Given the description of an element on the screen output the (x, y) to click on. 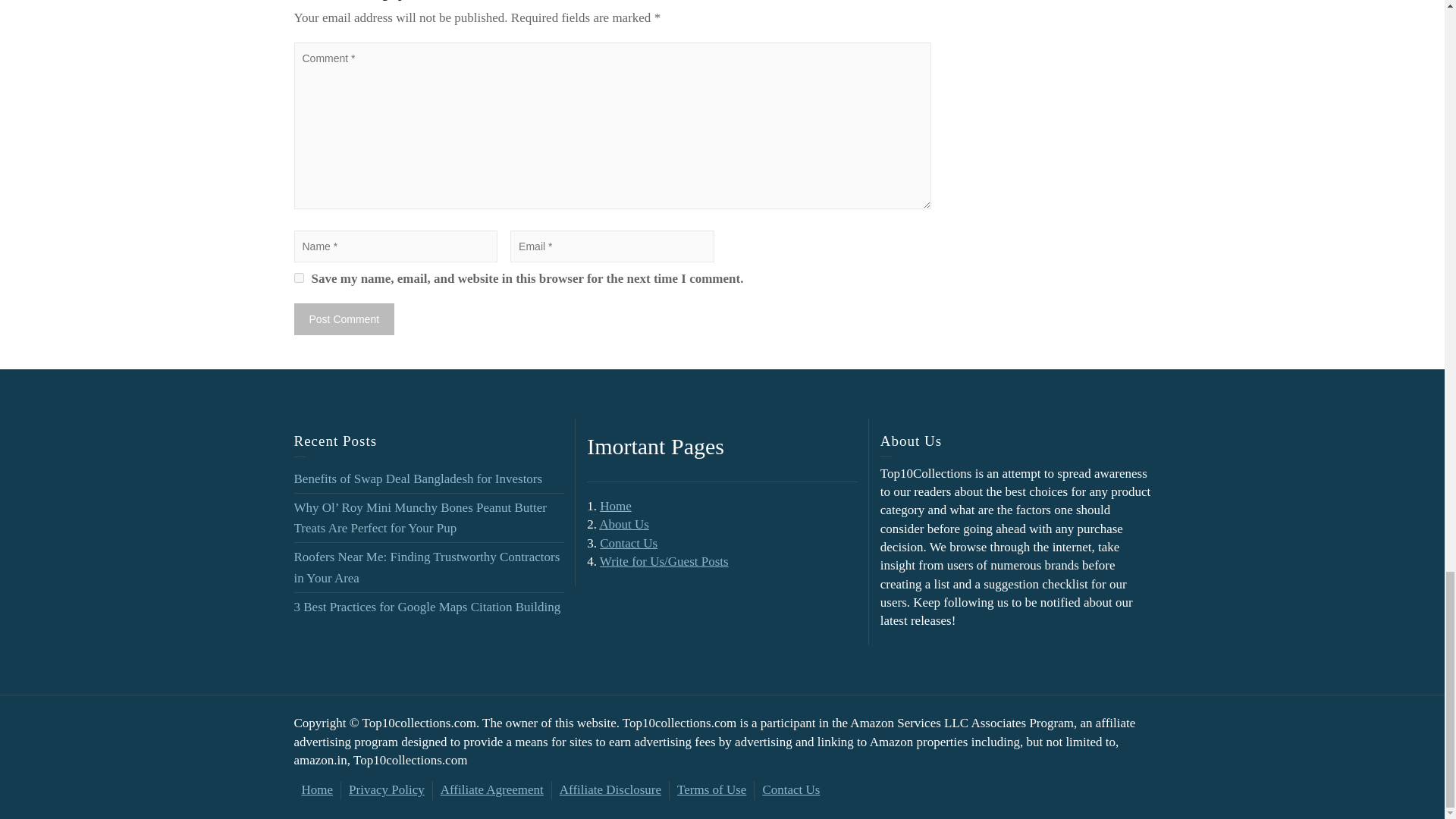
Post Comment (344, 318)
Home (615, 505)
Affiliate Disclosure (610, 789)
Privacy Policy (387, 789)
Post Comment (344, 318)
Terms of Use (711, 789)
About Us (623, 523)
yes (299, 277)
Benefits of Swap Deal Bangladesh for Investors (418, 478)
3 Best Practices for Google Maps Citation Building (427, 606)
